Given the description of an element on the screen output the (x, y) to click on. 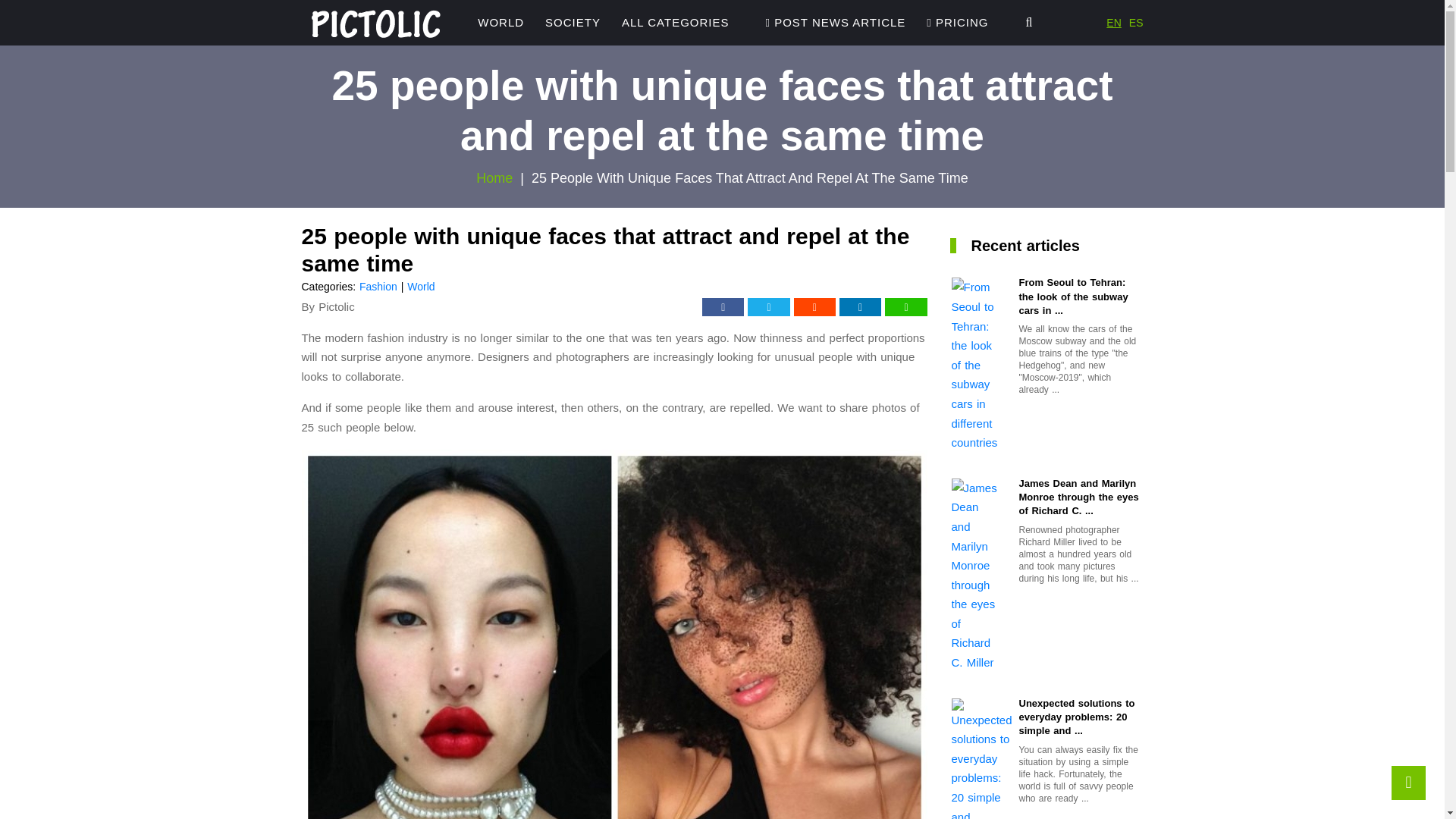
Fashion (378, 286)
LinkedIn (860, 307)
PRICING (956, 22)
WORLD (500, 22)
World (420, 286)
Fashion (378, 286)
Home (494, 177)
POST NEWS ARTICLE (836, 22)
ALL CATEGORIES (675, 22)
